Given the description of an element on the screen output the (x, y) to click on. 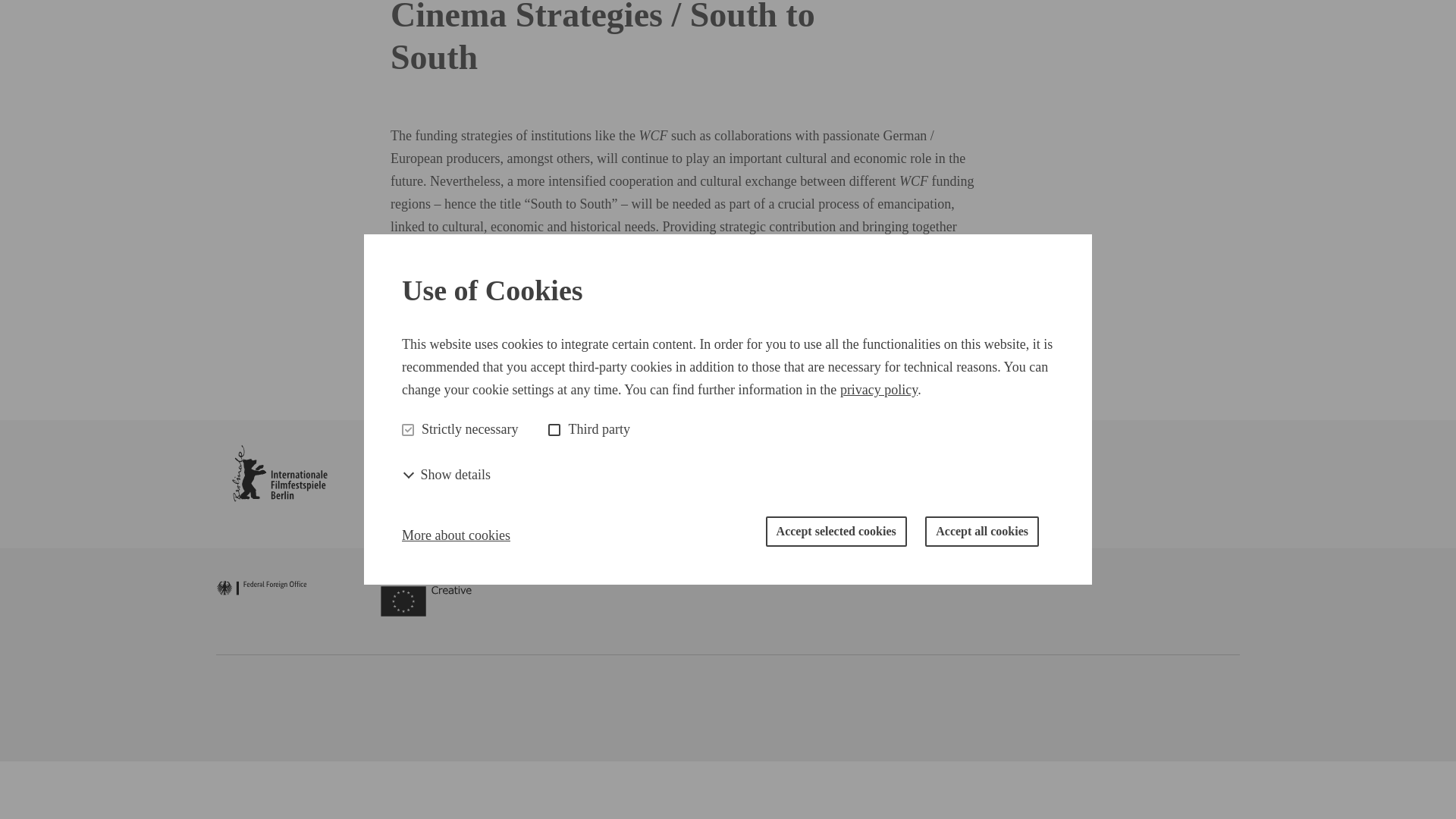
Login (721, 20)
Internationale Filmfestspiele Berlin (279, 478)
WCF Day 2022on YouTube (546, 363)
